Given the description of an element on the screen output the (x, y) to click on. 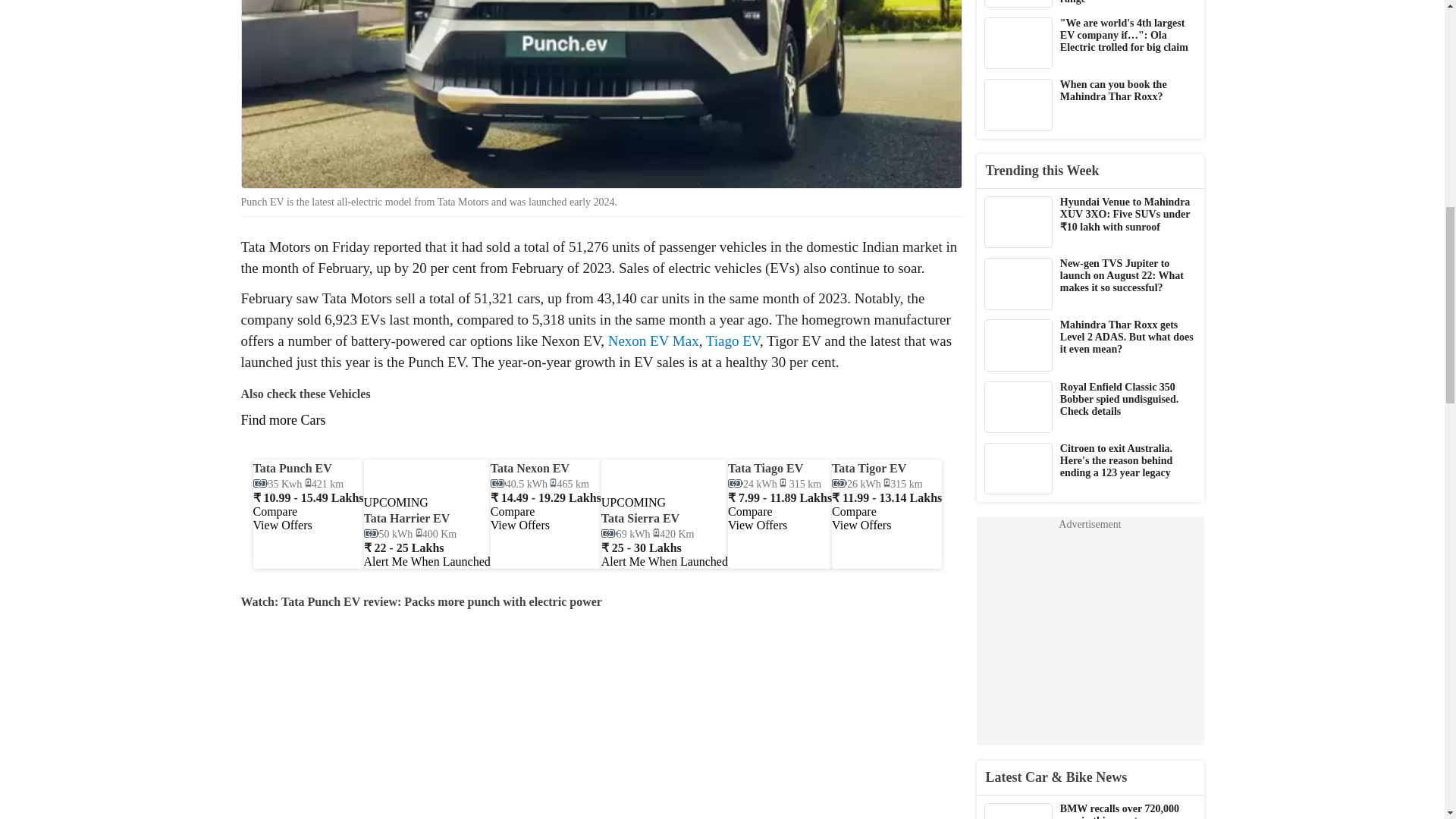
Range (323, 483)
BatteryCapacity (518, 483)
Range (435, 533)
Range (673, 533)
BatteryCapacity (388, 533)
Range (569, 483)
BatteryCapacity (752, 483)
BatteryCapacity (625, 533)
Range (799, 483)
BatteryCapacity (277, 483)
